Given the description of an element on the screen output the (x, y) to click on. 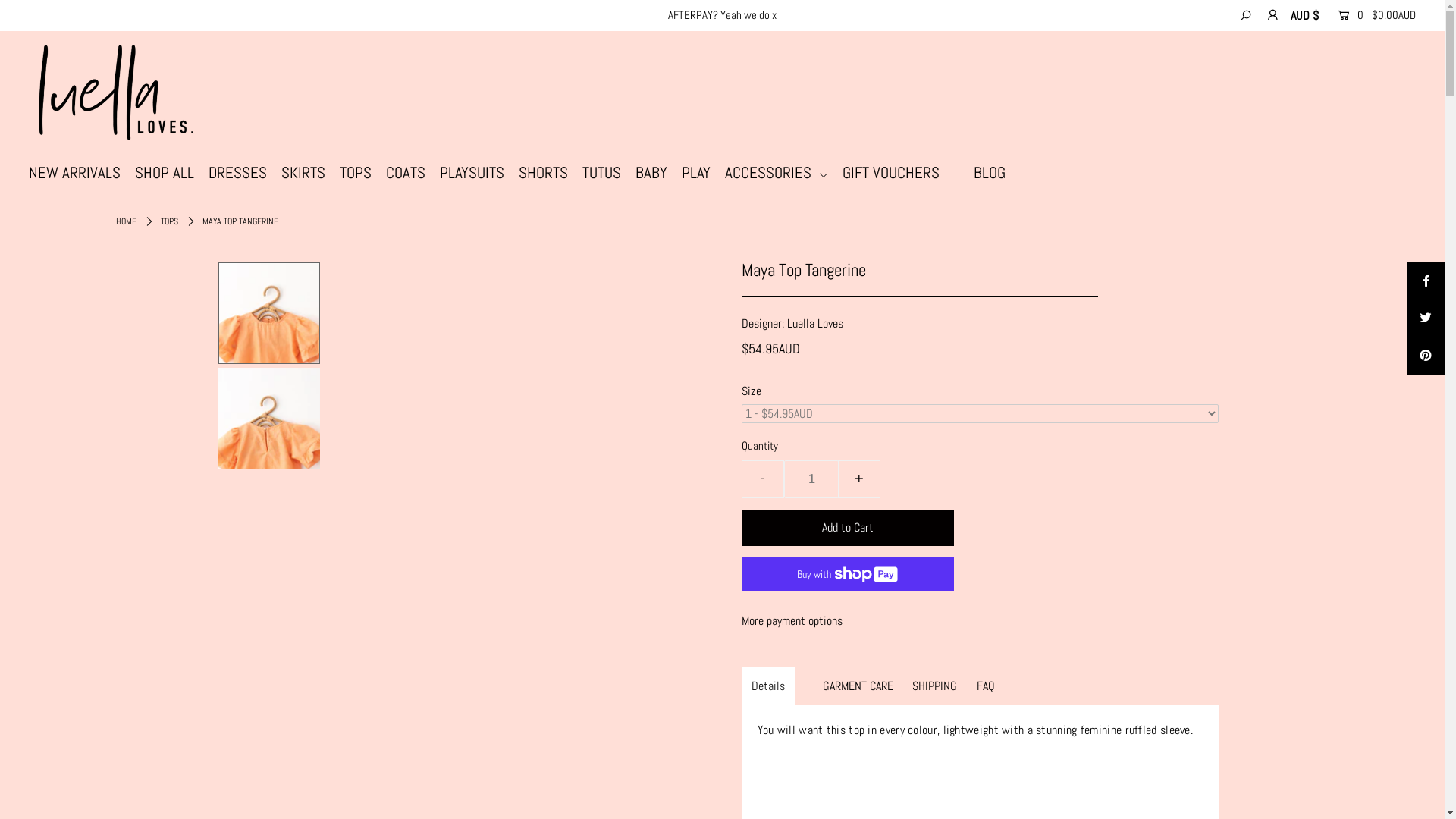
DRESSES Element type: text (243, 172)
HOME Element type: text (125, 221)
TOPS Element type: text (360, 172)
COATS Element type: text (410, 172)
- Element type: text (762, 479)
Share on Facebook Element type: hover (1425, 280)
TOPS Element type: text (169, 221)
+ Element type: text (858, 479)
SHORTS Element type: text (548, 172)
SHOP ALL Element type: text (169, 172)
  0  $0.00AUD Element type: text (1372, 15)
AUD $ Element type: text (1304, 15)
ACCESSORIES Element type: text (781, 172)
Share on Pinterest Element type: hover (1425, 356)
PLAYSUITS Element type: text (477, 172)
More payment options Element type: text (979, 620)
BABY Element type: text (656, 172)
TUTUS Element type: text (607, 172)
GIFT VOUCHERS Element type: text (896, 172)
Share on Twitter Element type: hover (1425, 318)
Add to Cart Element type: text (847, 527)
PLAY Element type: text (701, 172)
SKIRTS Element type: text (308, 172)
NEW ARRIVALS Element type: text (79, 172)
